Given the description of an element on the screen output the (x, y) to click on. 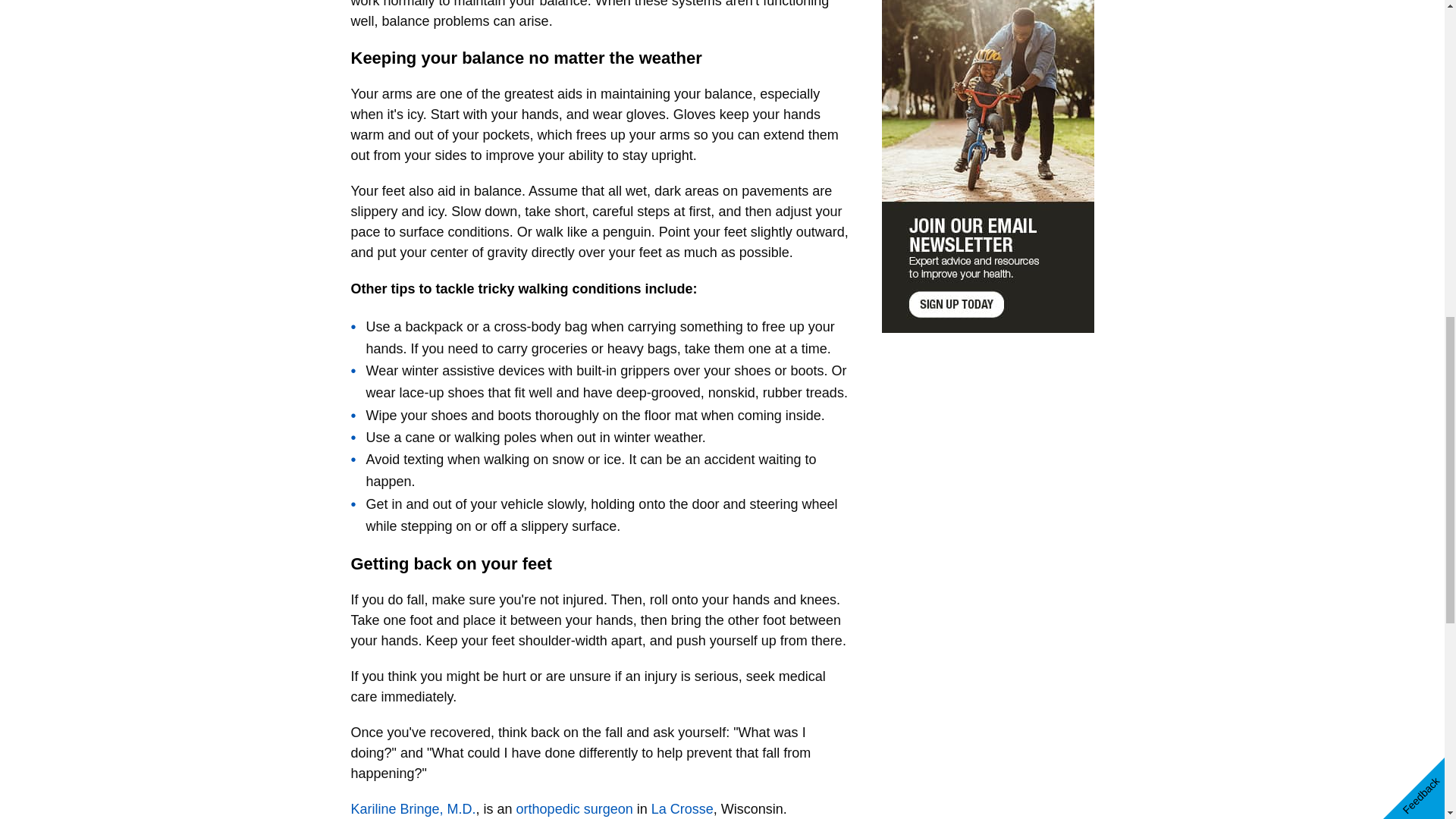
Opens in same window. (681, 808)
Opens in same window. (574, 808)
Opens in same window. (413, 808)
